Given the description of an element on the screen output the (x, y) to click on. 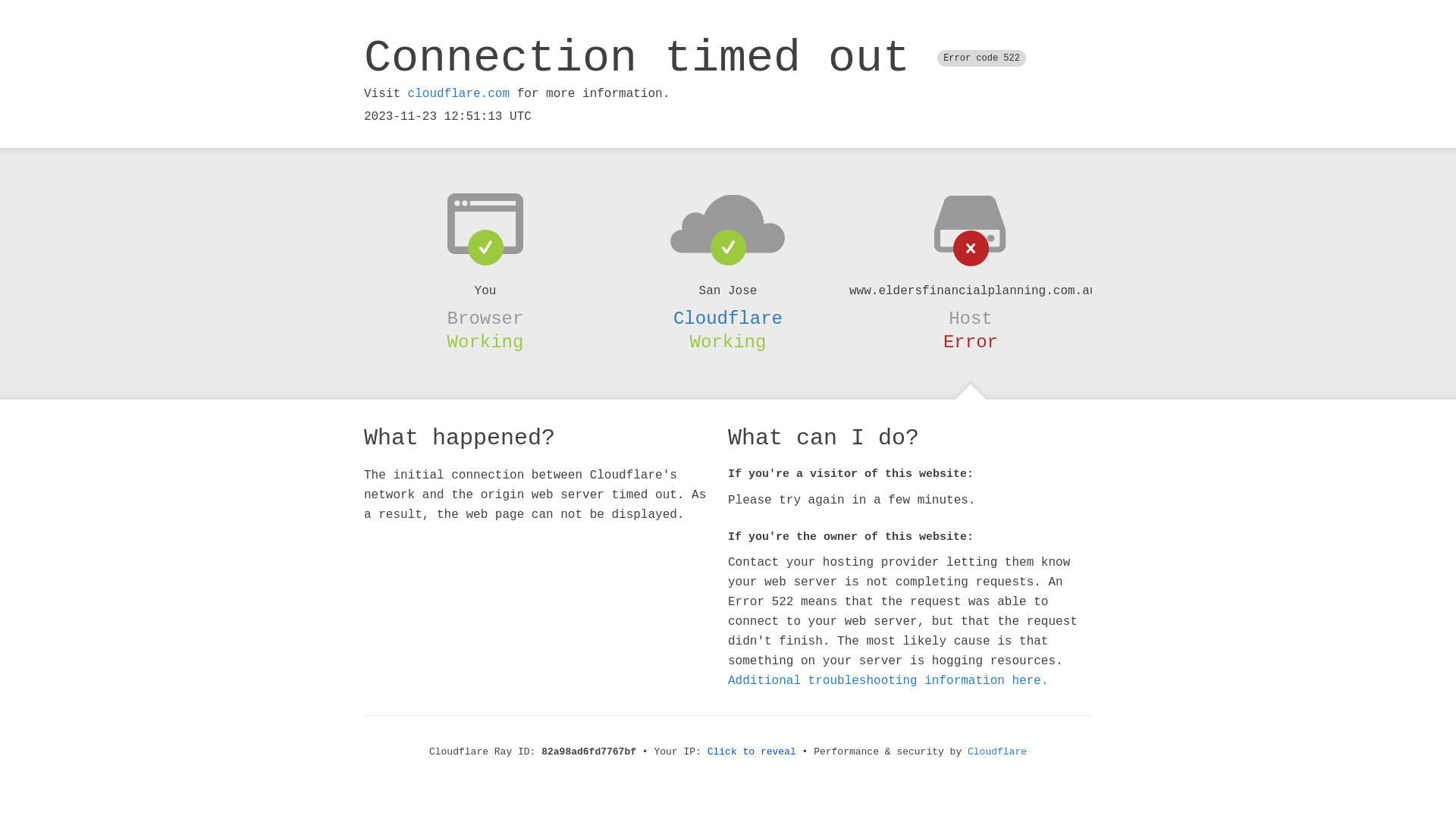
Cloudflare Element type: text (727, 318)
Click to reveal Element type: text (751, 751)
Additional troubleshooting information here. Element type: text (888, 680)
cloudflare.com Element type: text (458, 93)
Cloudflare Element type: text (996, 751)
